Given the description of an element on the screen output the (x, y) to click on. 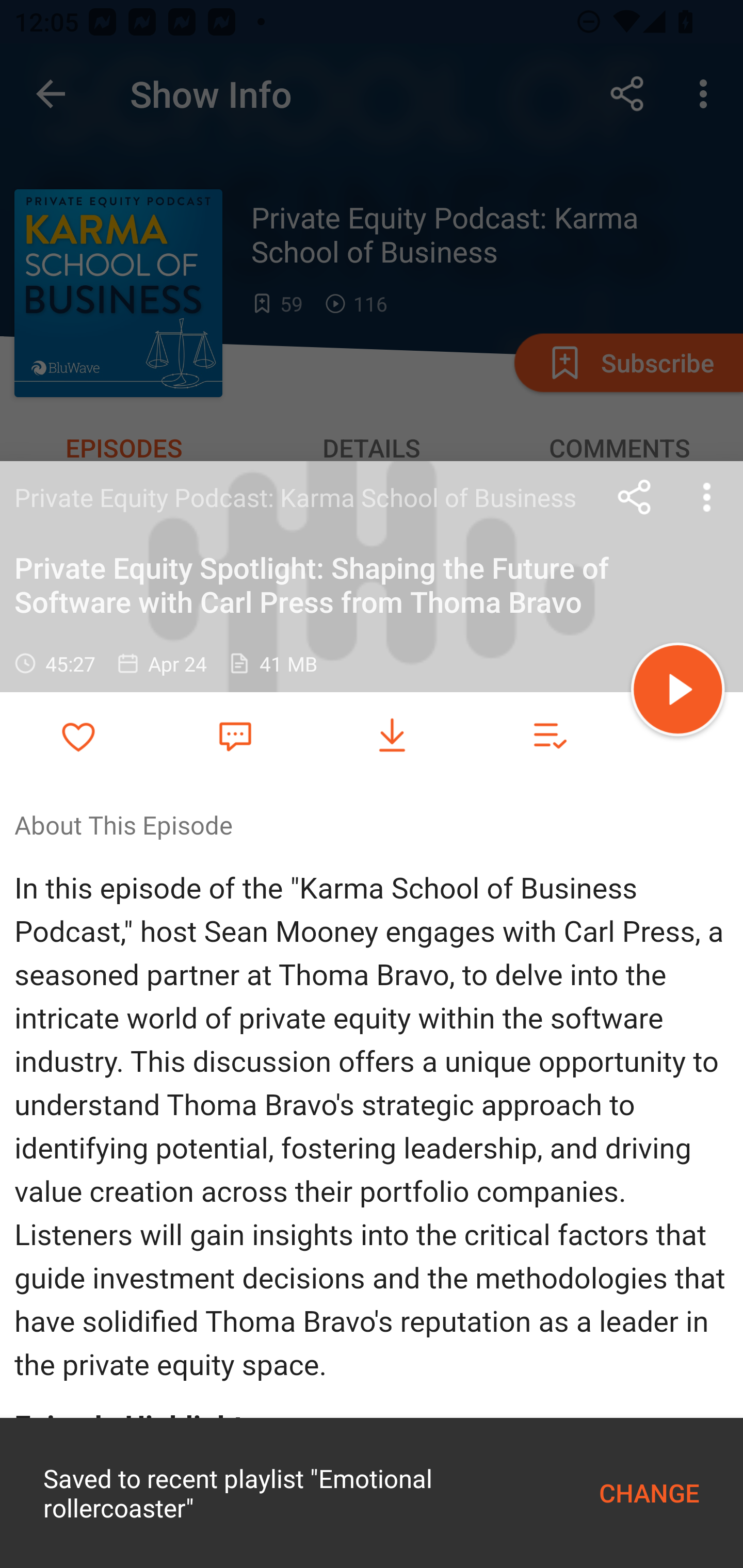
Share (634, 496)
more options (706, 496)
Play (677, 692)
Favorite (234, 735)
Add to Favorites (78, 735)
Download (391, 735)
Add to playlist (548, 735)
CHANGE (648, 1492)
